Given the description of an element on the screen output the (x, y) to click on. 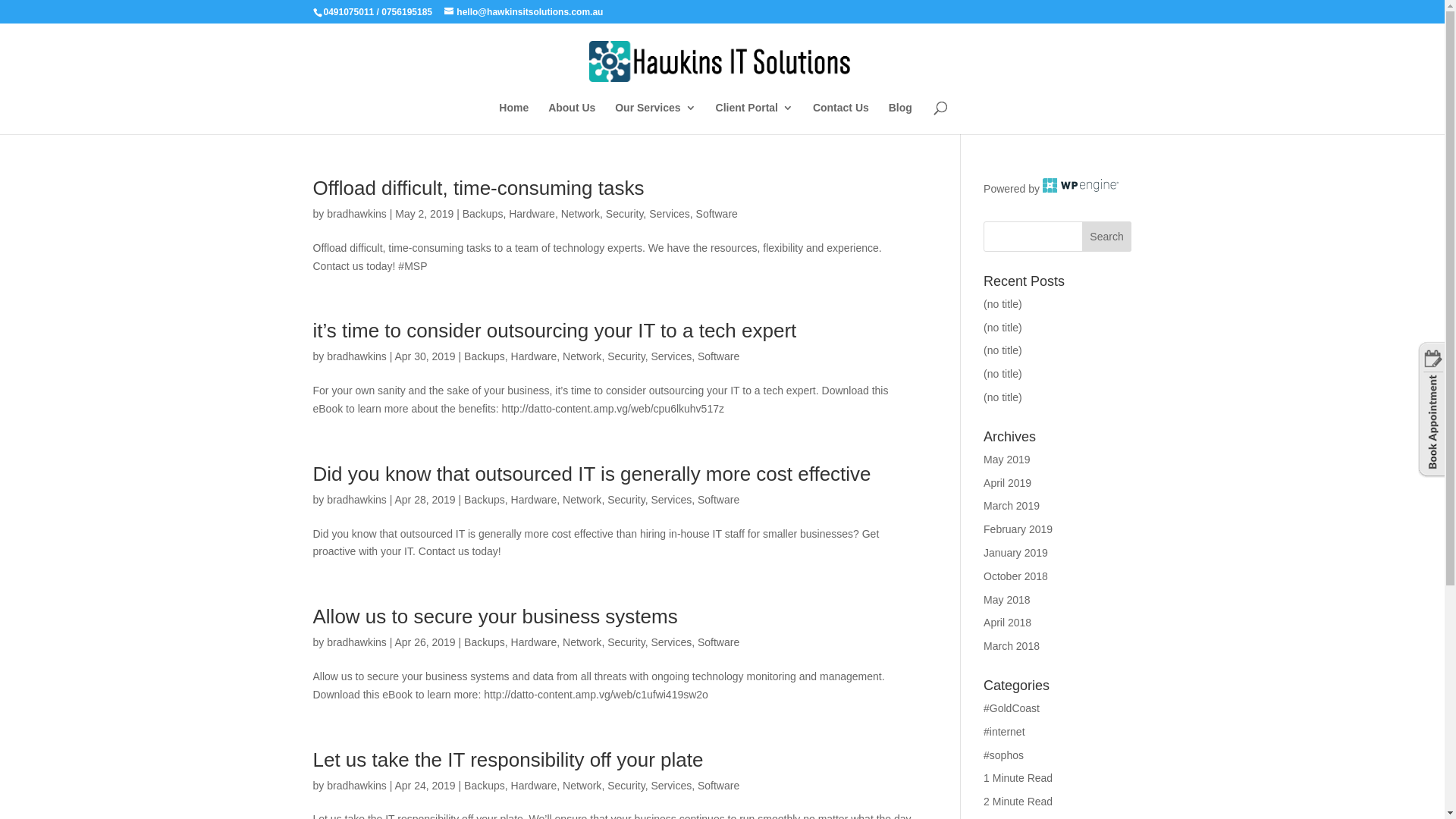
Network Element type: text (581, 785)
(no title) Element type: text (1002, 397)
Offload difficult, time-consuming tasks Element type: text (477, 187)
Security Element type: text (624, 213)
(no title) Element type: text (1002, 327)
Contact Us Element type: text (840, 118)
Managed WordPress Hosting Element type: hover (1080, 188)
Blog Element type: text (900, 118)
/ 0756195185 Element type: text (404, 11)
Backups Element type: text (484, 642)
Hardware Element type: text (534, 785)
Services Element type: text (670, 642)
Backups Element type: text (484, 499)
Let us take the IT responsibility off your plate Element type: text (507, 759)
Services Element type: text (670, 785)
bradhawkins Element type: text (356, 499)
#GoldCoast Element type: text (1011, 708)
May 2019 Element type: text (1006, 459)
Software Element type: text (718, 785)
bradhawkins Element type: text (356, 785)
bradhawkins Element type: text (356, 642)
Backups Element type: text (482, 213)
2 Minute Read Element type: text (1017, 801)
0491075011 Element type: text (348, 11)
May 2018 Element type: text (1006, 599)
Network Element type: text (580, 213)
Software Element type: text (718, 642)
(no title) Element type: text (1002, 350)
January 2019 Element type: text (1015, 552)
Software Element type: text (718, 356)
bradhawkins Element type: text (356, 356)
Security Element type: text (626, 642)
hello@hawkinsitsolutions.com.au Element type: text (523, 11)
(no title) Element type: text (1002, 304)
Allow us to secure your business systems Element type: text (494, 616)
Hardware Element type: text (534, 499)
Security Element type: text (626, 356)
Network Element type: text (581, 356)
Network Element type: text (581, 499)
Backups Element type: text (484, 785)
About Us Element type: text (571, 118)
1 Minute Read Element type: text (1017, 777)
Backups Element type: text (484, 356)
#sophos Element type: text (1003, 755)
Home Element type: text (513, 118)
Services Element type: text (670, 356)
Our Services Element type: text (655, 118)
bradhawkins Element type: text (356, 213)
April 2018 Element type: text (1007, 622)
Search Element type: text (1107, 236)
April 2019 Element type: text (1007, 482)
Hardware Element type: text (534, 642)
Security Element type: text (626, 499)
February 2019 Element type: text (1017, 529)
Security Element type: text (626, 785)
Hardware Element type: text (531, 213)
Software Element type: text (718, 499)
Client Portal Element type: text (754, 118)
March 2019 Element type: text (1011, 505)
#internet Element type: text (1003, 731)
Software Element type: text (716, 213)
March 2018 Element type: text (1011, 646)
October 2018 Element type: text (1015, 576)
Services Element type: text (670, 499)
Network Element type: text (581, 642)
(no title) Element type: text (1002, 373)
Services Element type: text (669, 213)
Hardware Element type: text (534, 356)
